Given the description of an element on the screen output the (x, y) to click on. 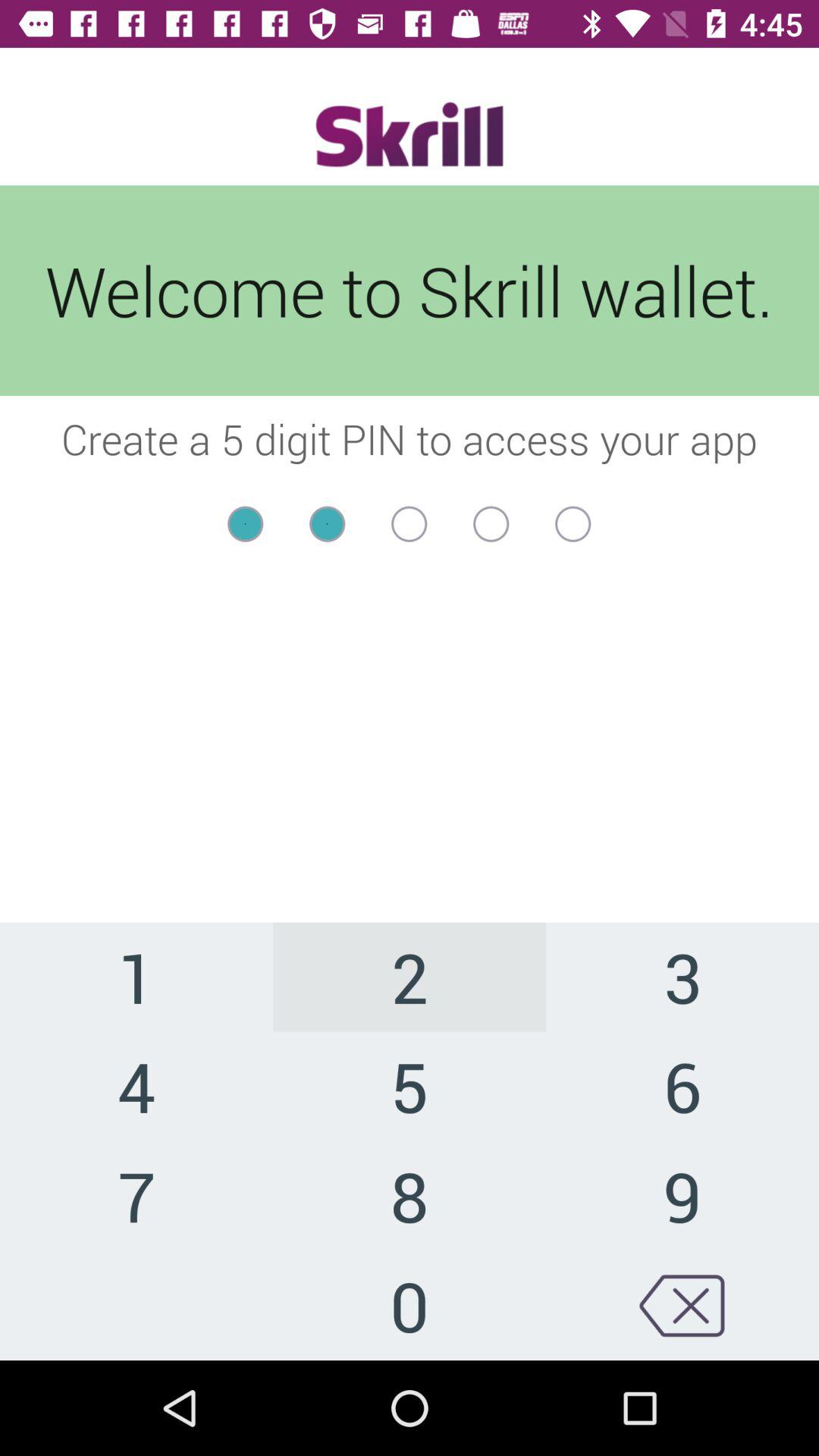
tap item next to the 5 (136, 1195)
